Given the description of an element on the screen output the (x, y) to click on. 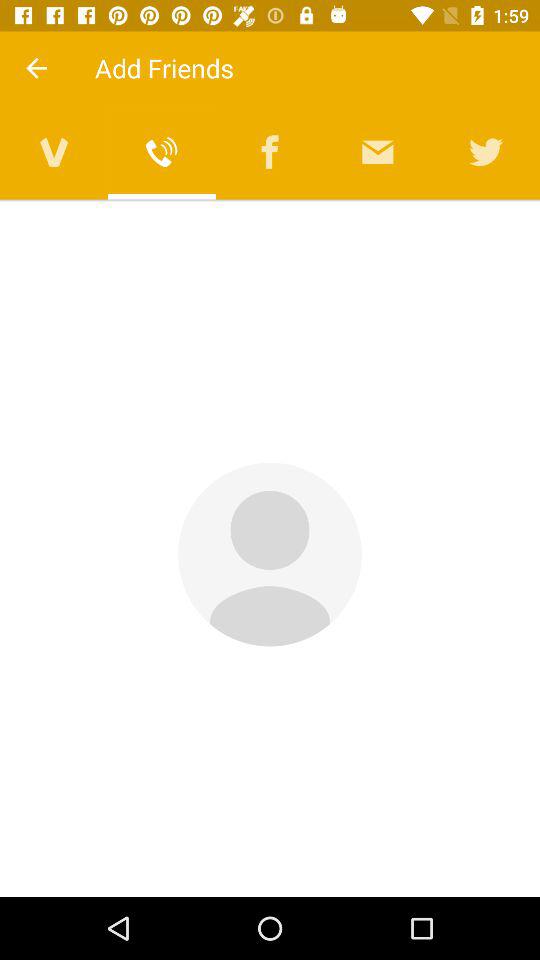
add friends from viber (162, 152)
